Given the description of an element on the screen output the (x, y) to click on. 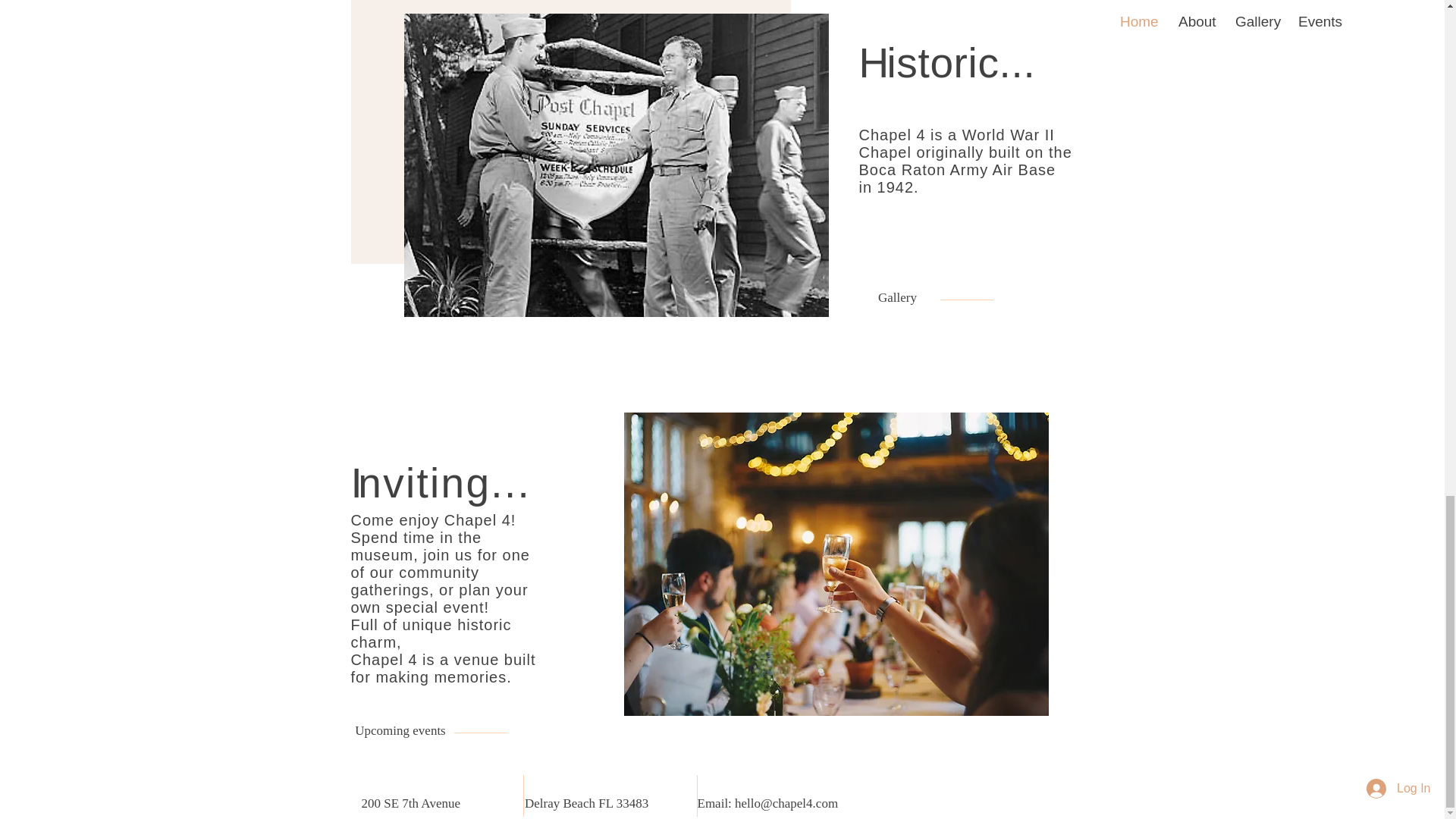
Upcoming events (400, 730)
Gallery (897, 298)
